Given the description of an element on the screen output the (x, y) to click on. 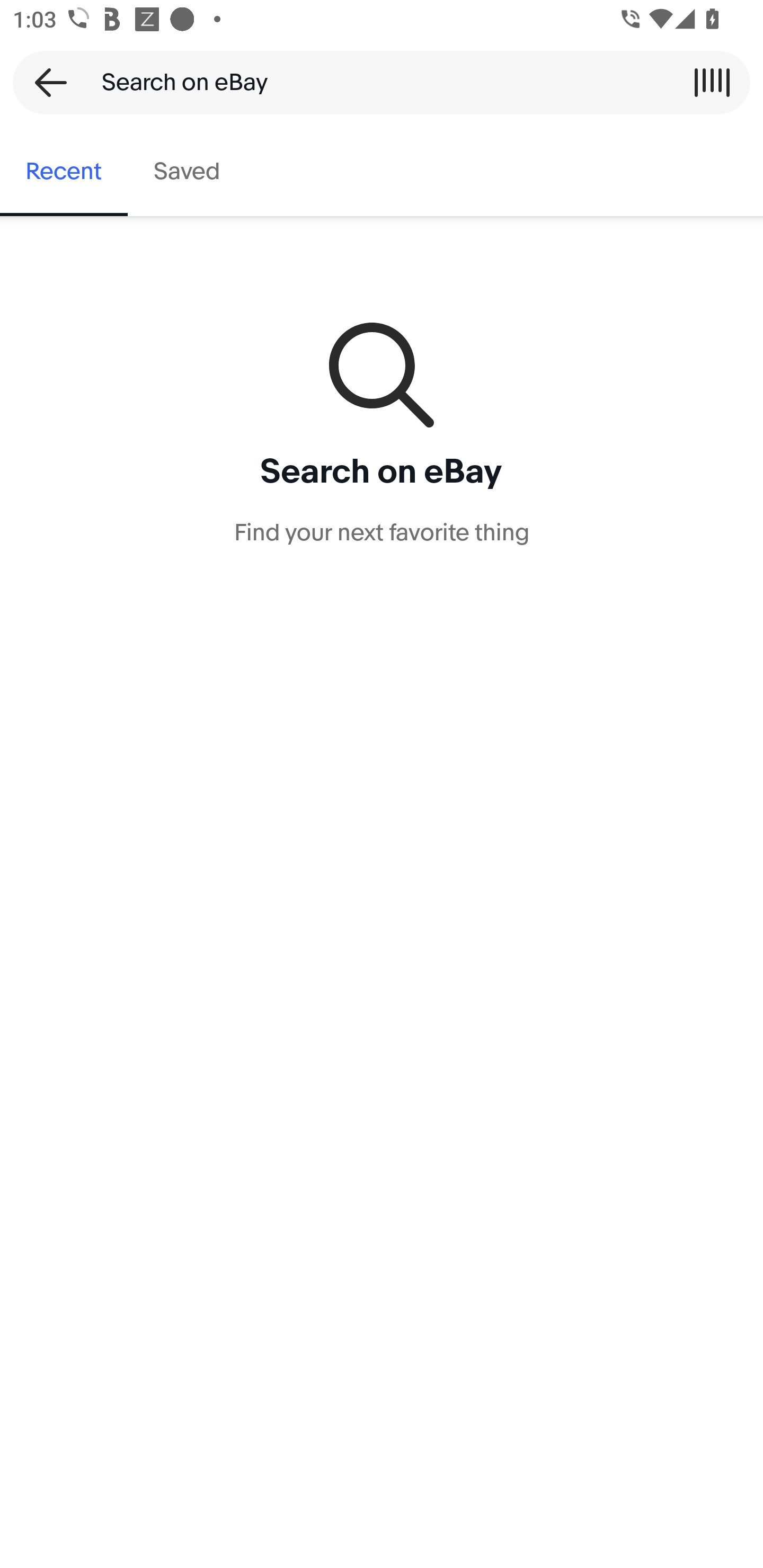
Back (44, 82)
Scan a barcode (711, 82)
Search on eBay (375, 82)
Saved, tab 2 of 2 Saved (186, 171)
